Given the description of an element on the screen output the (x, y) to click on. 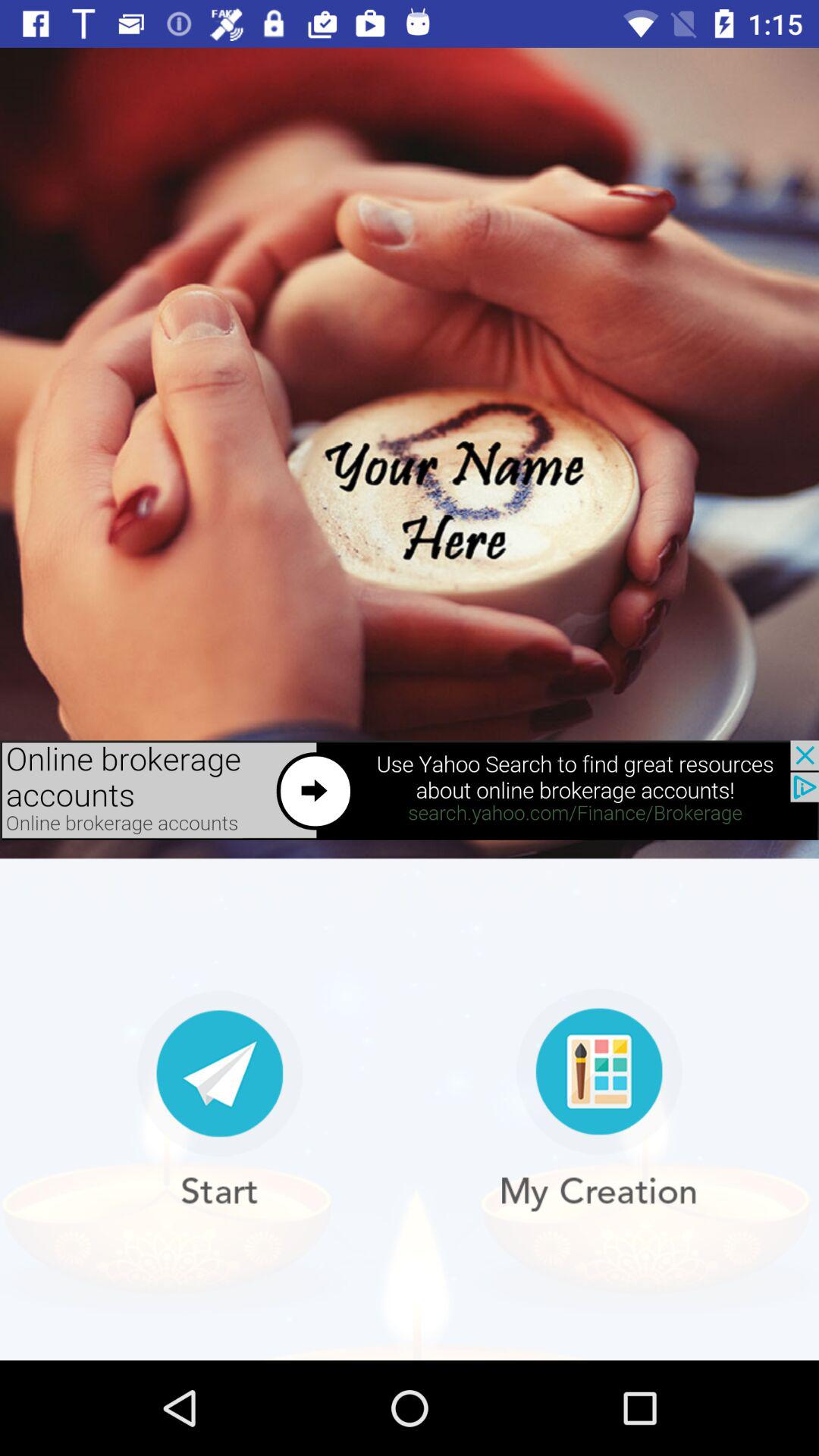
click my creation option (599, 1099)
